Given the description of an element on the screen output the (x, y) to click on. 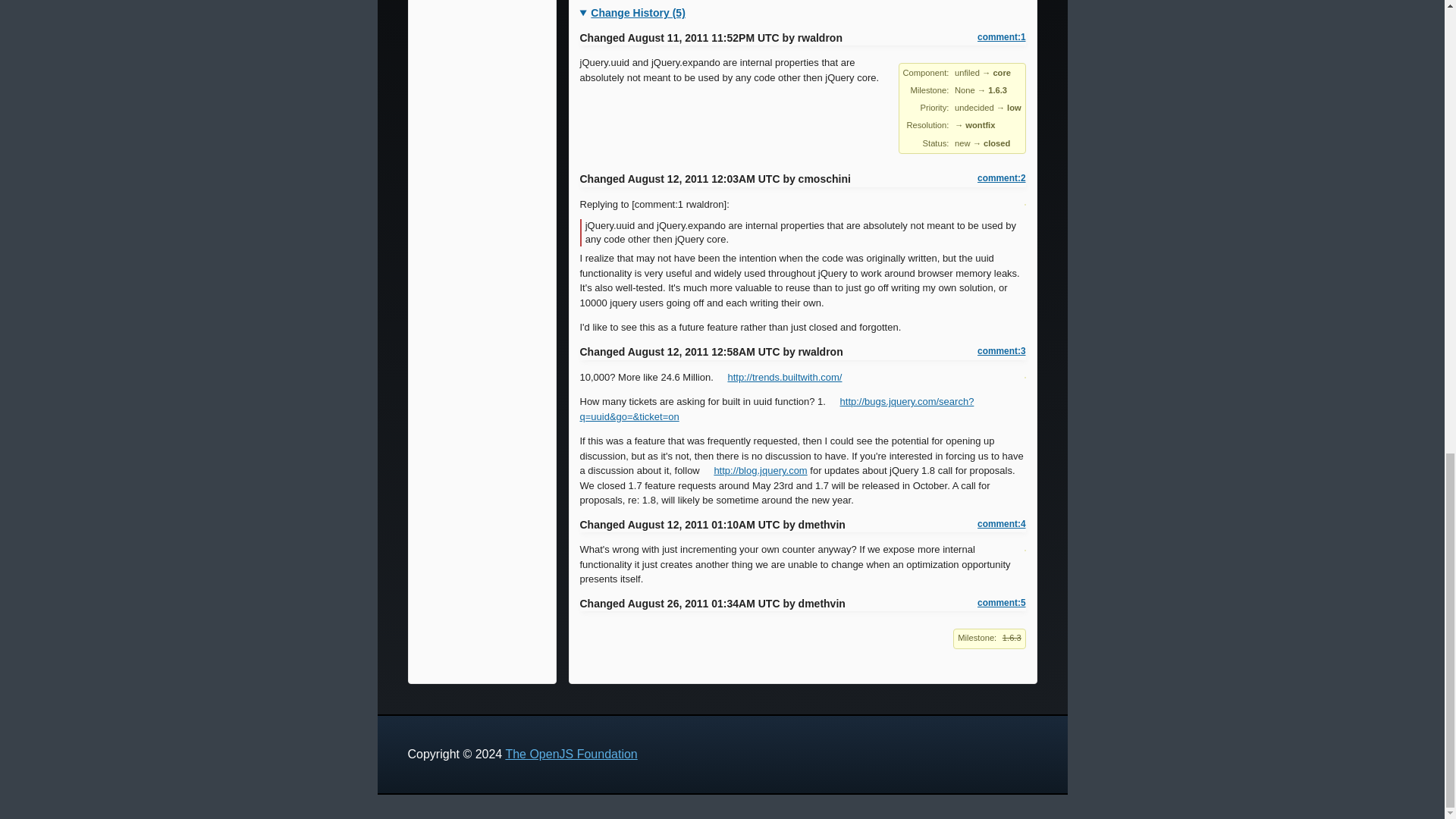
comment:4 (1000, 523)
comment:5 (1000, 603)
The OpenJS Foundation (571, 753)
comment:3 (1000, 350)
comment:1 (1000, 37)
comment:2 (1000, 178)
